Given the description of an element on the screen output the (x, y) to click on. 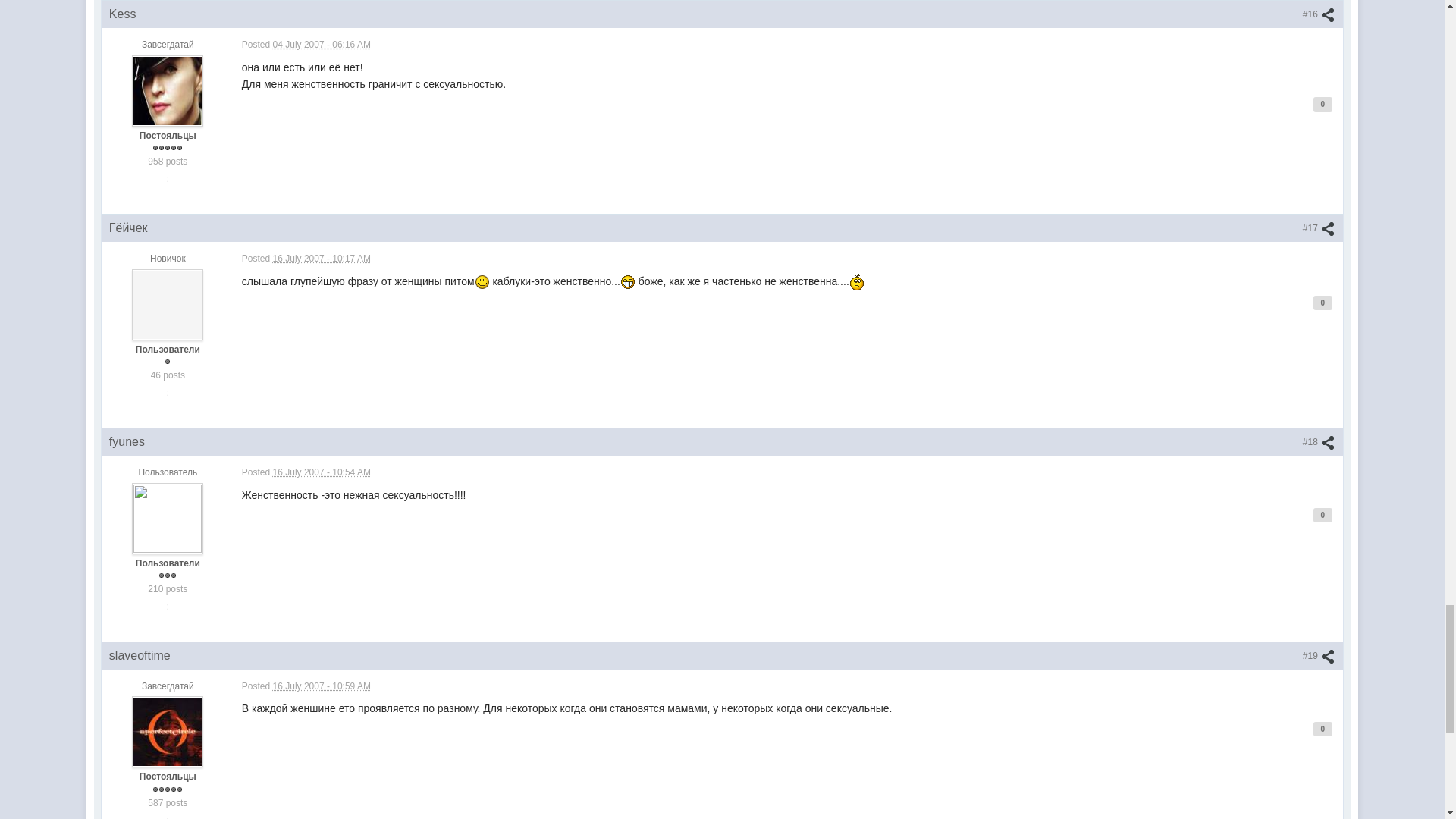
2 Element type: text (169, 216)
EylencE.AZ Forums Element type: text (131, 114)
SaintRush Element type: text (208, 186)
Open Quick Navigation Element type: hover (1337, 90)
#2 Element type: text (1321, 500)
Create Account Element type: text (1315, 11)
NEXT Element type: text (197, 215)
Forums Element type: text (199, 90)
Go to community index Element type: hover (229, 50)
  Element type: text (1337, 90)
#1 Element type: text (1321, 286)
Page 1 of 2 Element type: text (119, 216)
Calendar Element type: text (329, 90)
Sign In Element type: text (1257, 11)
Members Element type: text (262, 90)
View New Content Element type: text (1272, 90)
EylencE.AZ Element type: text (131, 90)
